Given the description of an element on the screen output the (x, y) to click on. 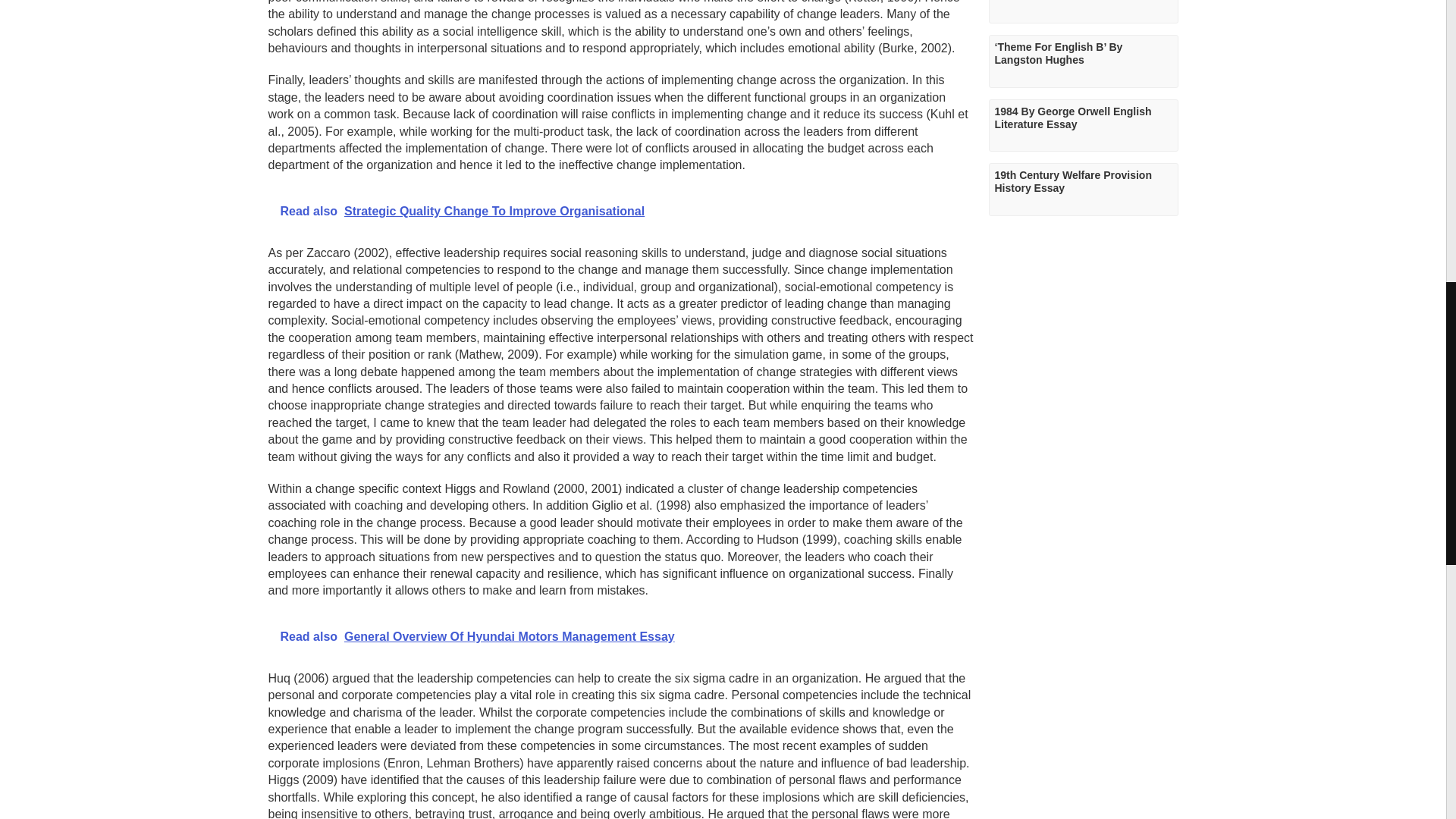
19th Century Welfare Provision History Essay (1082, 189)
1984 By George Orwell English Literature Essay (1082, 125)
